Given the description of an element on the screen output the (x, y) to click on. 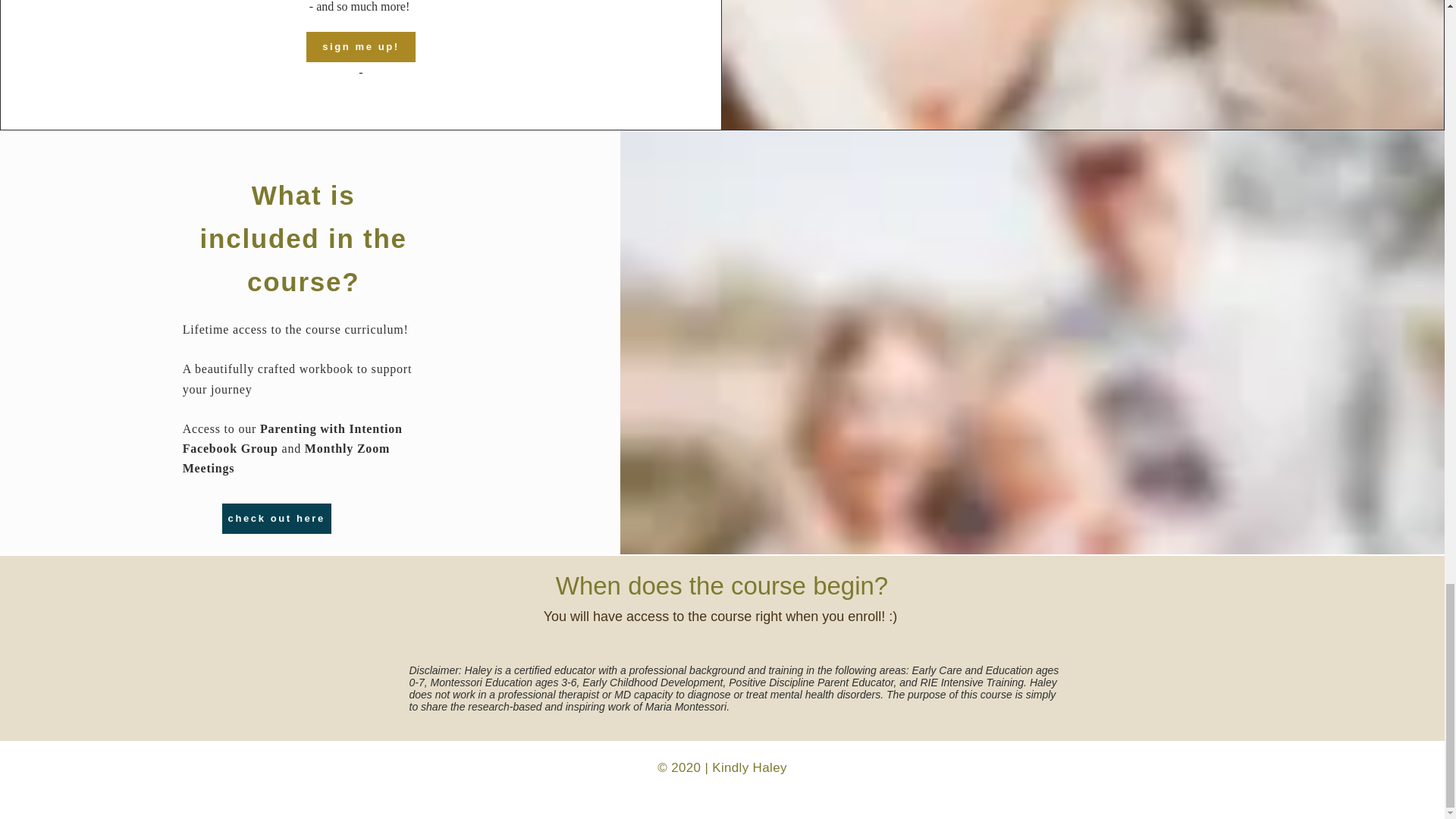
sign me up! (359, 46)
check out here (276, 518)
